Given the description of an element on the screen output the (x, y) to click on. 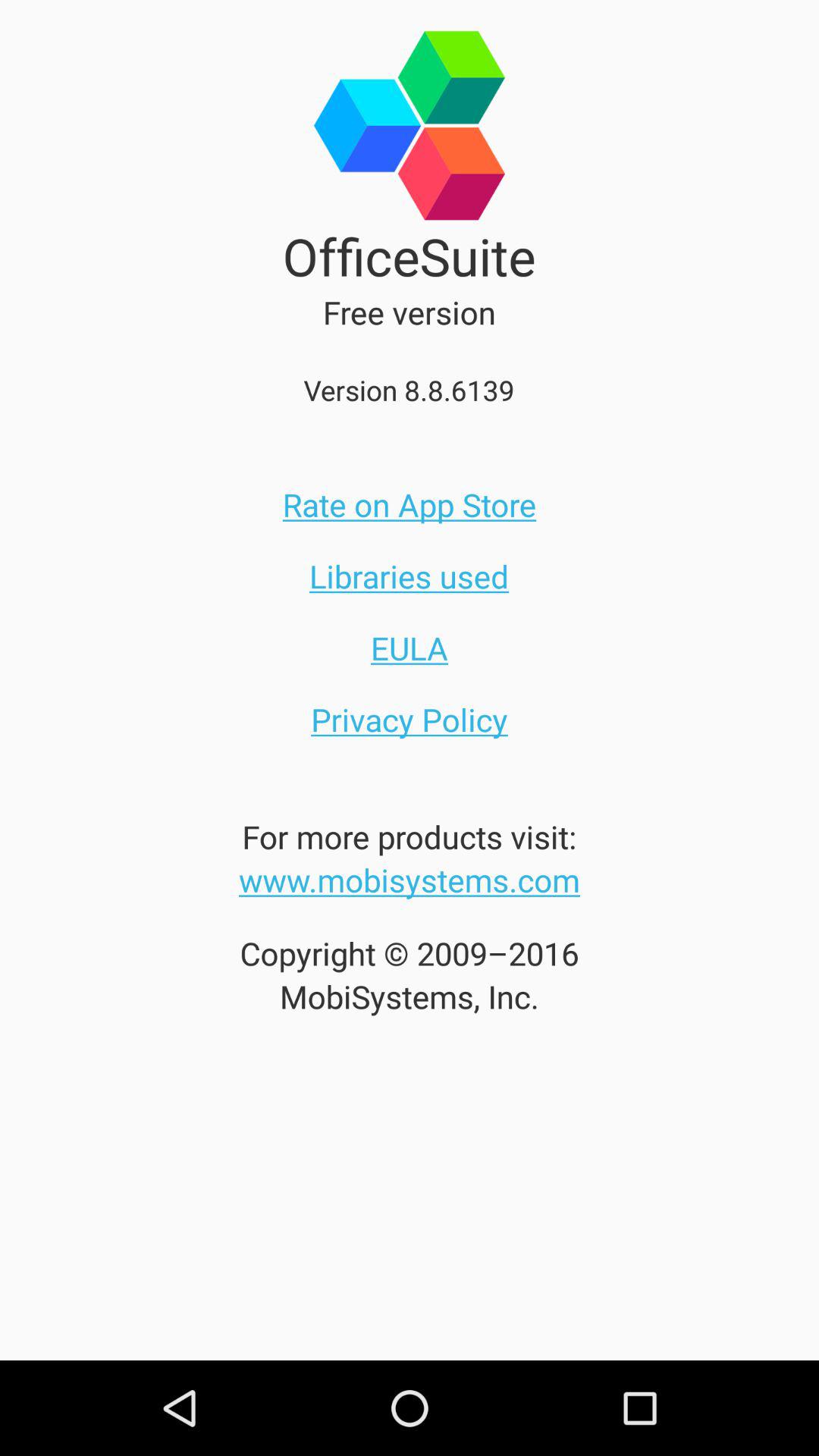
open the icon above officesuite icon (409, 110)
